Given the description of an element on the screen output the (x, y) to click on. 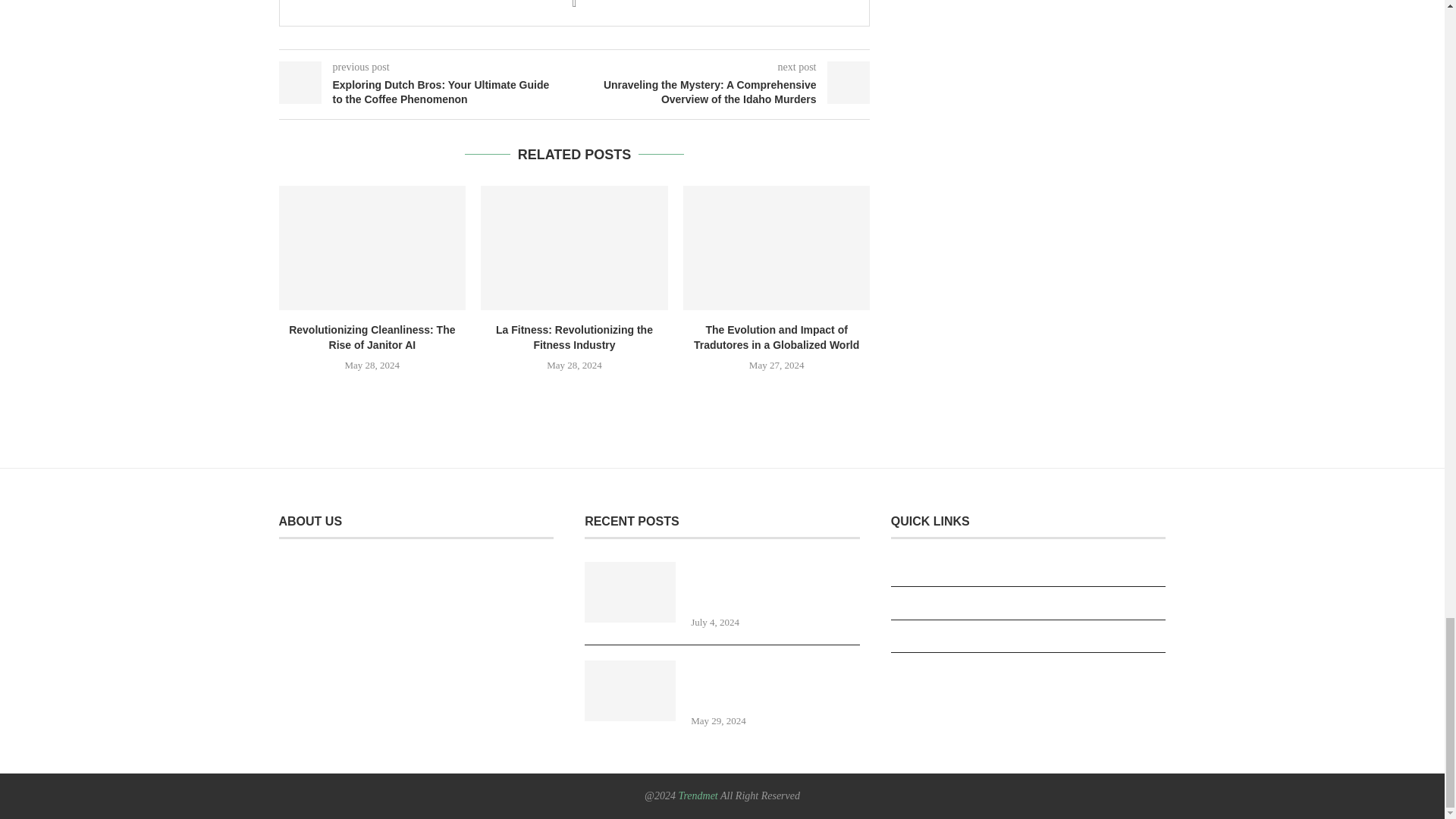
Revolutionizing Cleanliness: The Rise of Janitor AI (372, 247)
